Given the description of an element on the screen output the (x, y) to click on. 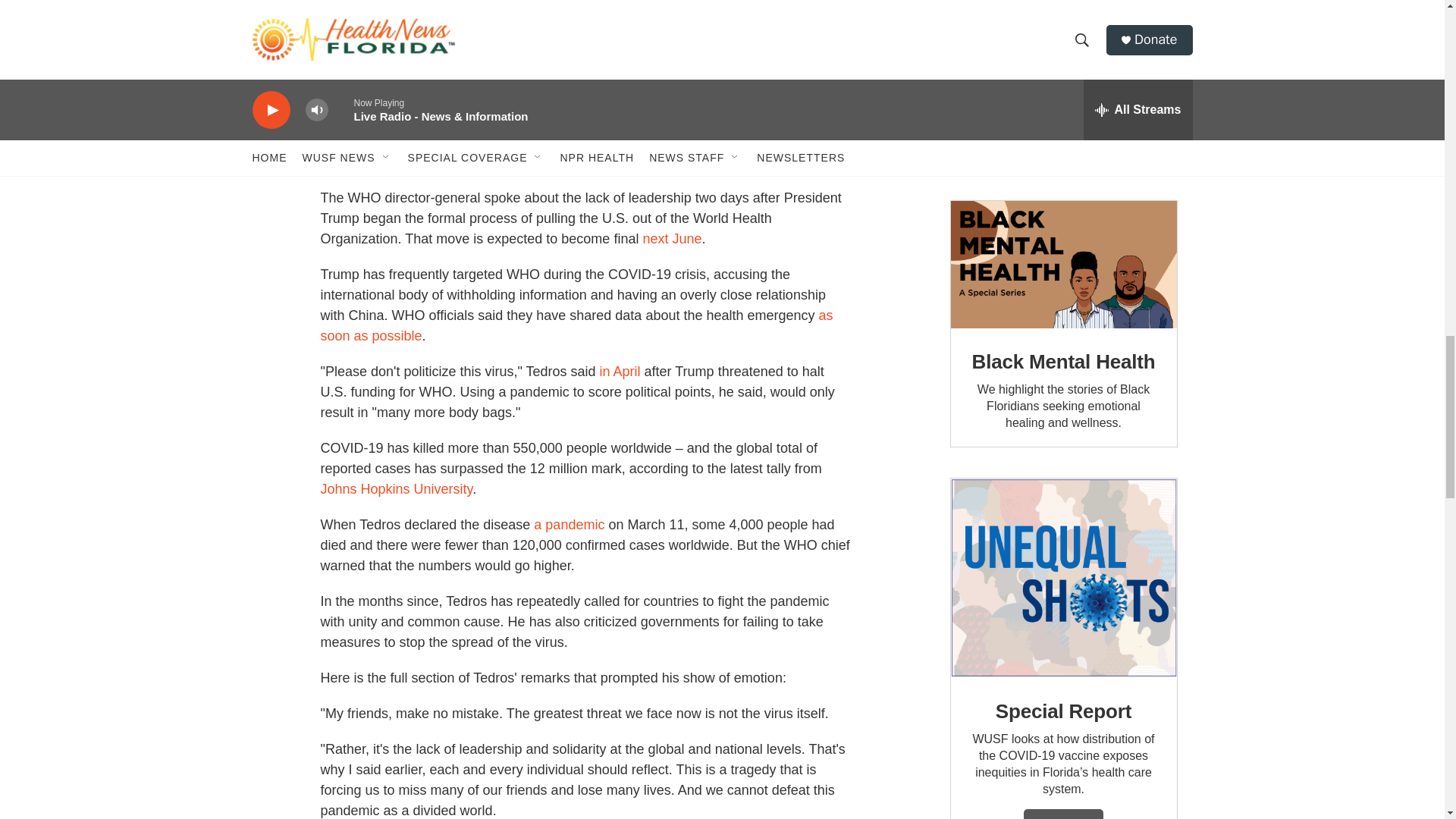
3rd party ad content (1062, 84)
